Given the description of an element on the screen output the (x, y) to click on. 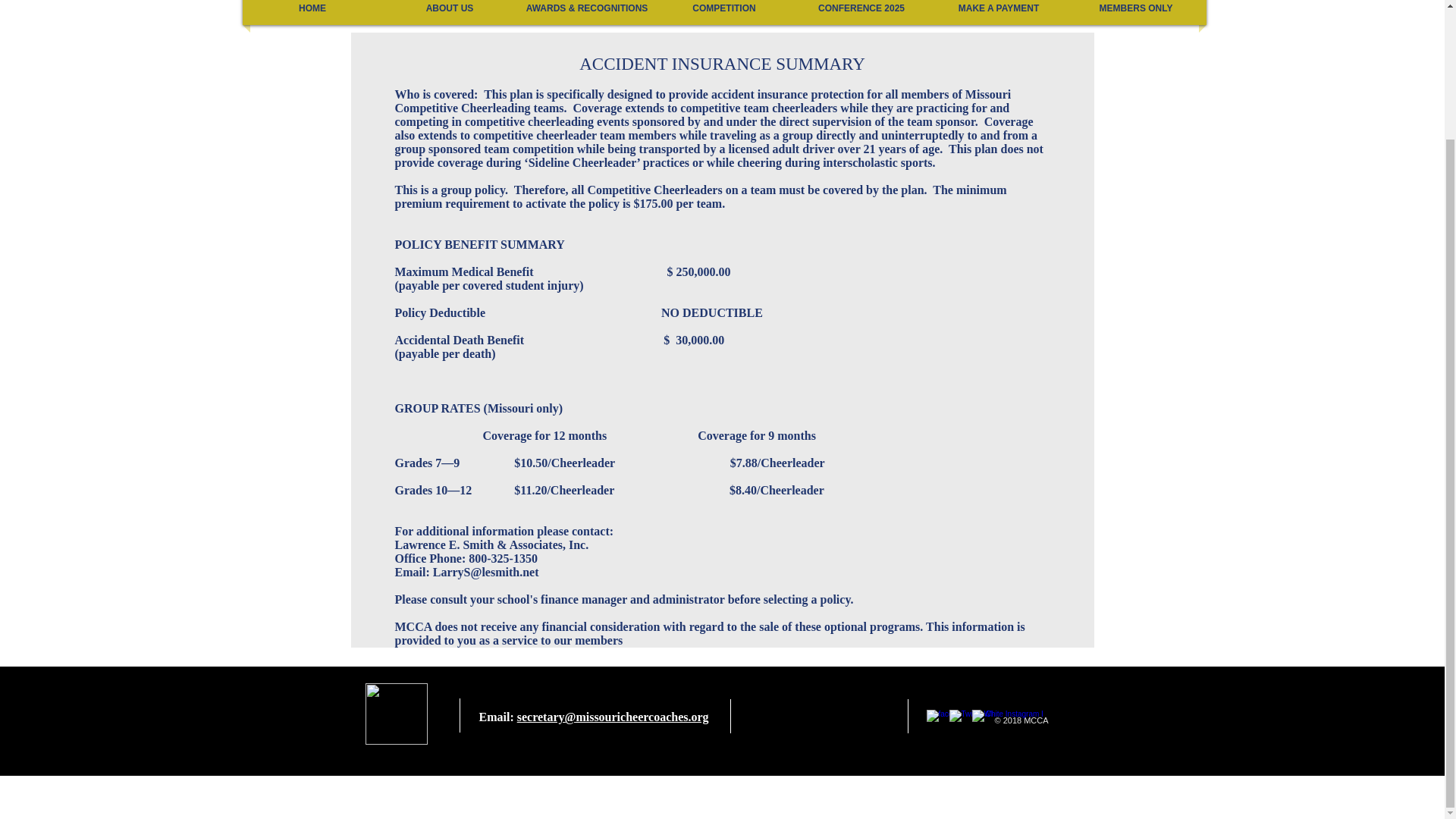
CONFERENCE 2025 (861, 12)
Twitter Follow (822, 717)
MAKE A PAYMENT (998, 12)
ABOUT US (449, 12)
MEMBERS ONLY (1136, 12)
HOME (312, 12)
